Given the description of an element on the screen output the (x, y) to click on. 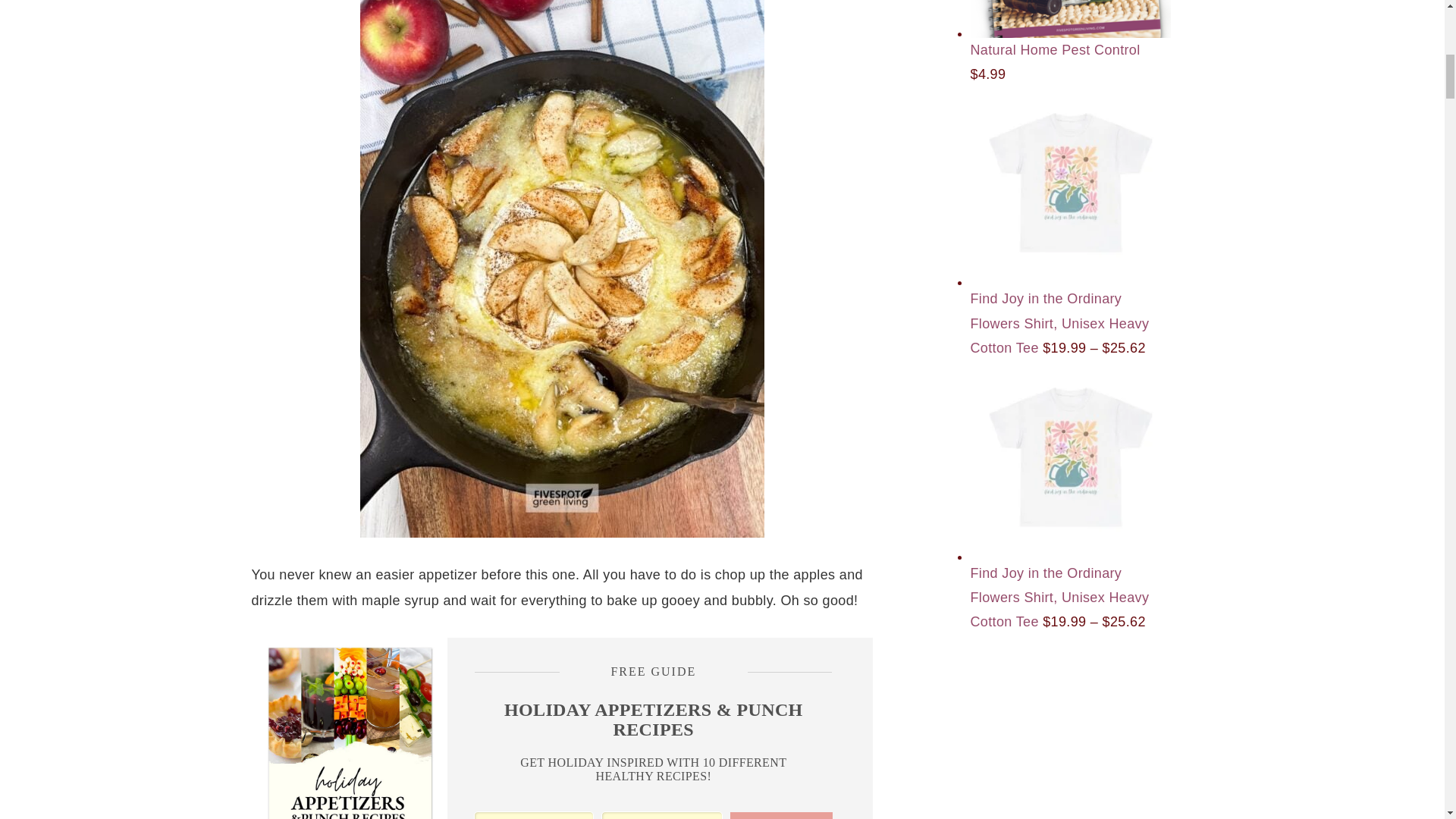
SIGNUP (781, 815)
